Given the description of an element on the screen output the (x, y) to click on. 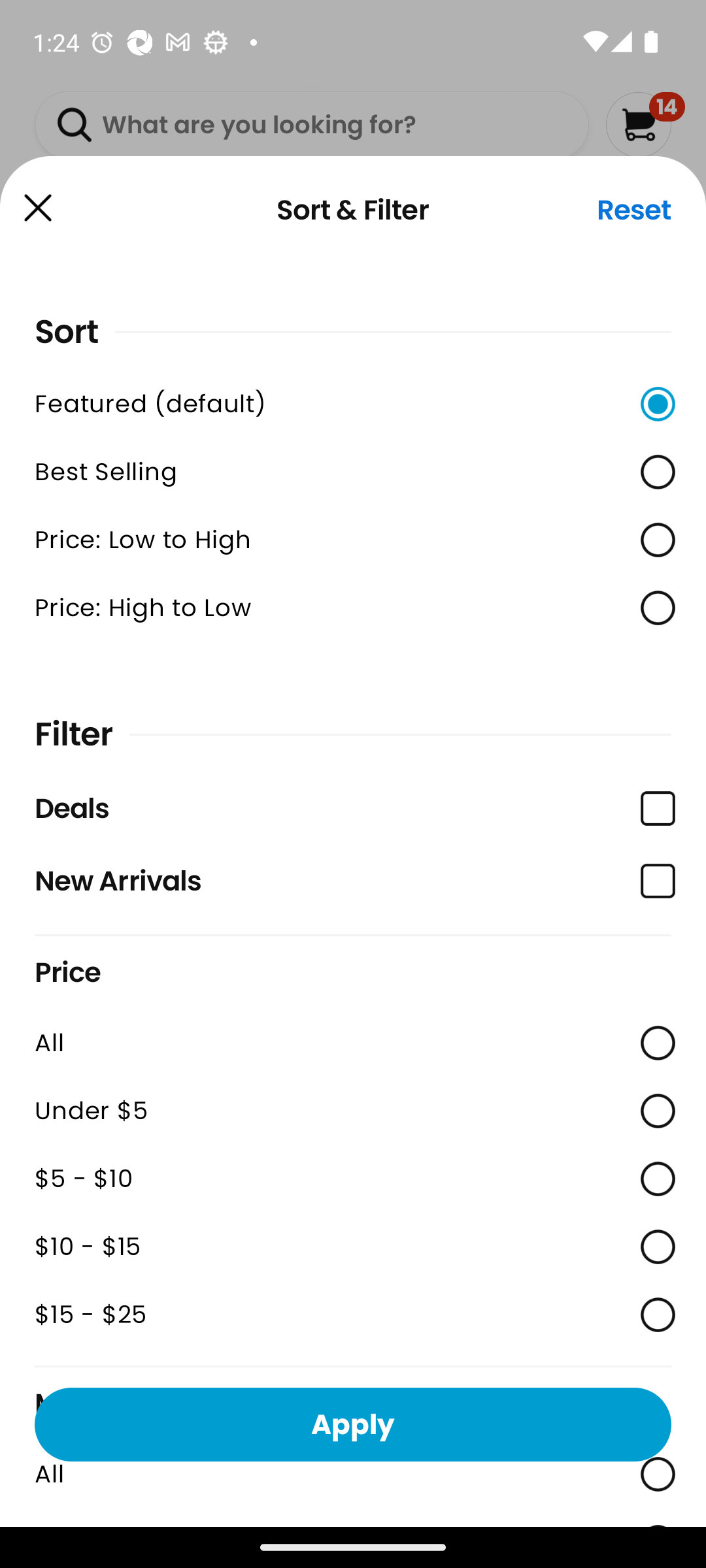
Reset (633, 209)
Apply (352, 1424)
